Given the description of an element on the screen output the (x, y) to click on. 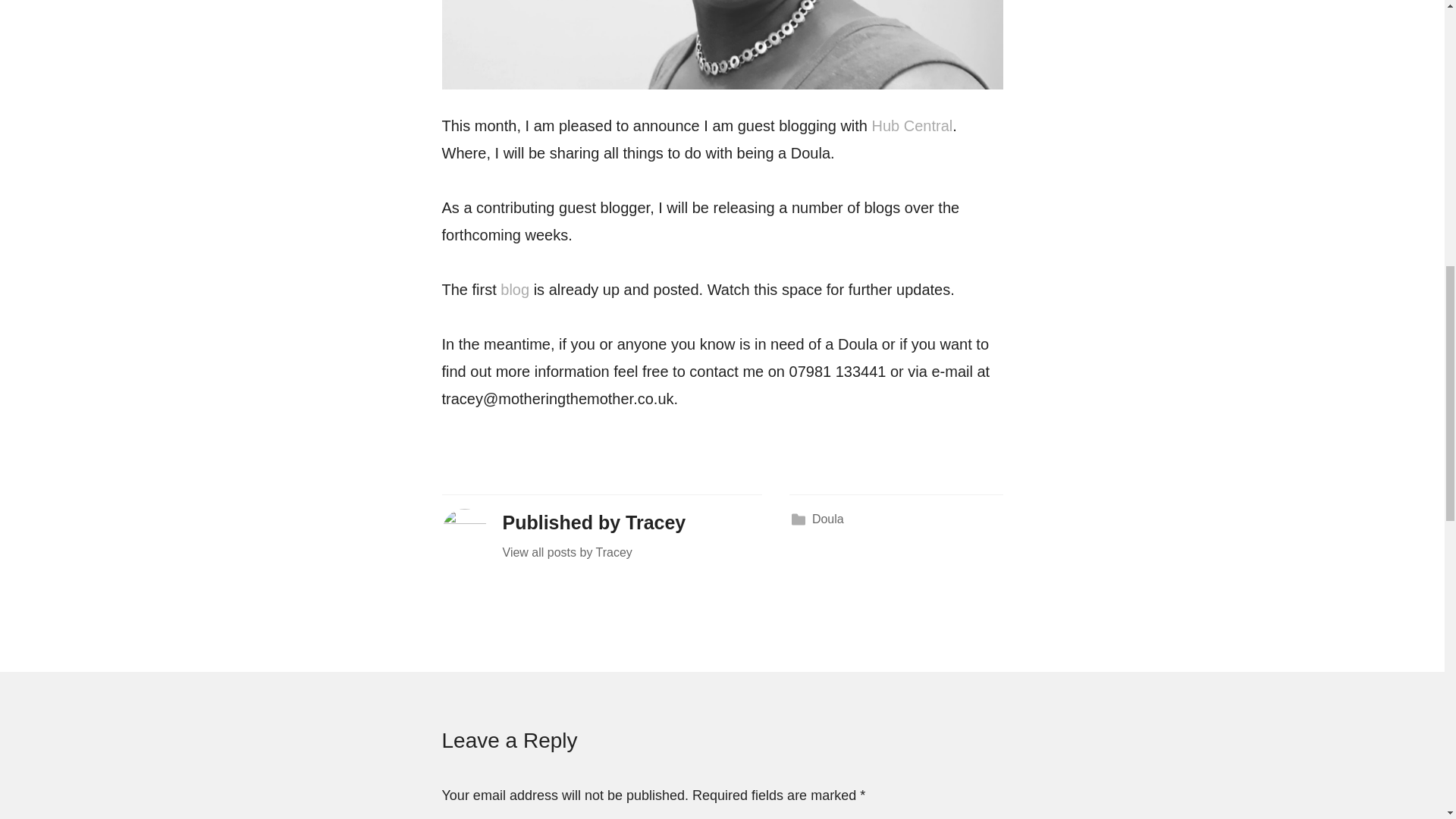
Hub Central (912, 125)
blog (514, 289)
Doula (828, 518)
View all posts by Tracey (631, 552)
